Given the description of an element on the screen output the (x, y) to click on. 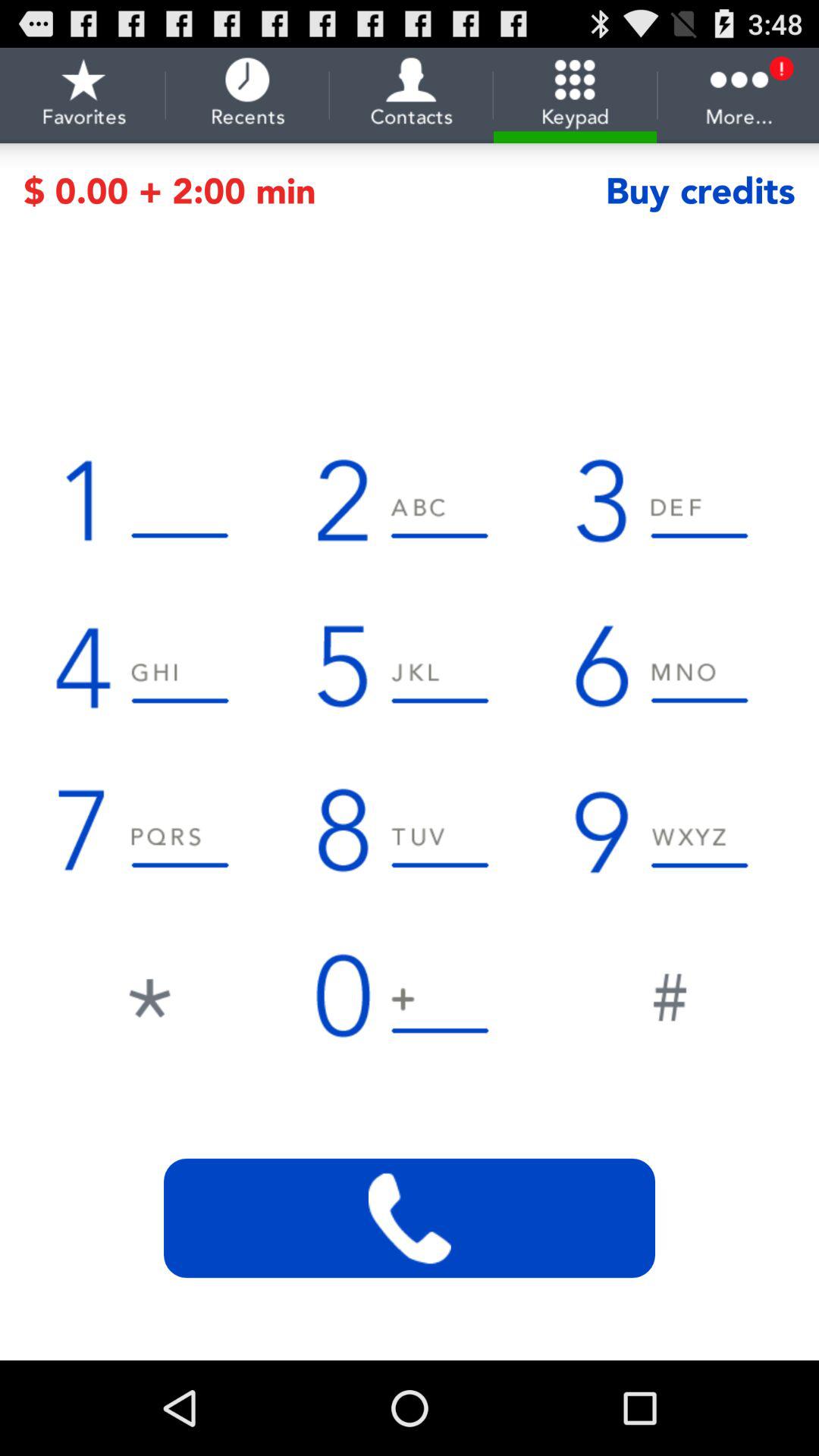
click icon next to the buy credits item (314, 190)
